Given the description of an element on the screen output the (x, y) to click on. 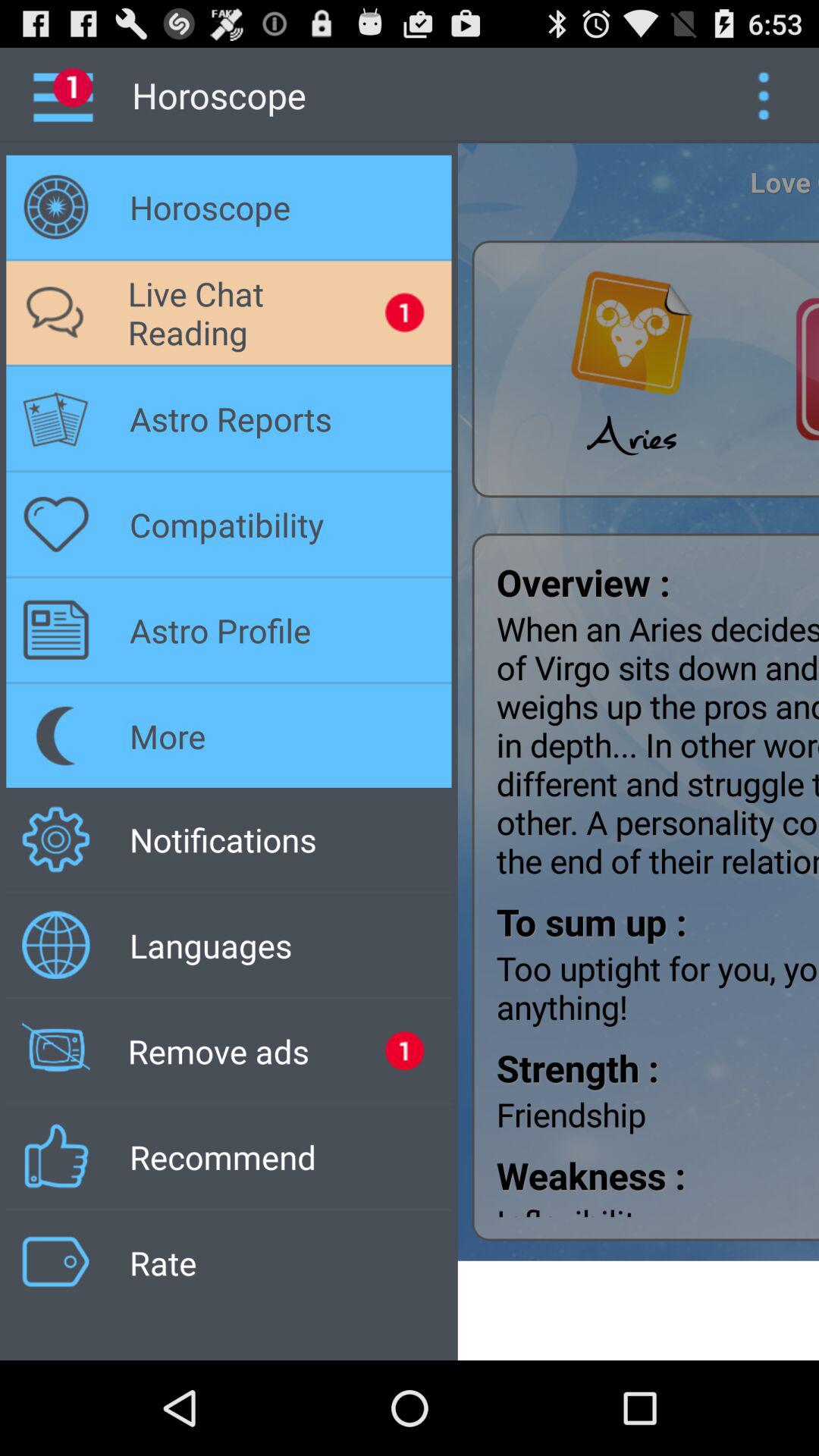
open icon to the right of the rate app (638, 1310)
